Given the description of an element on the screen output the (x, y) to click on. 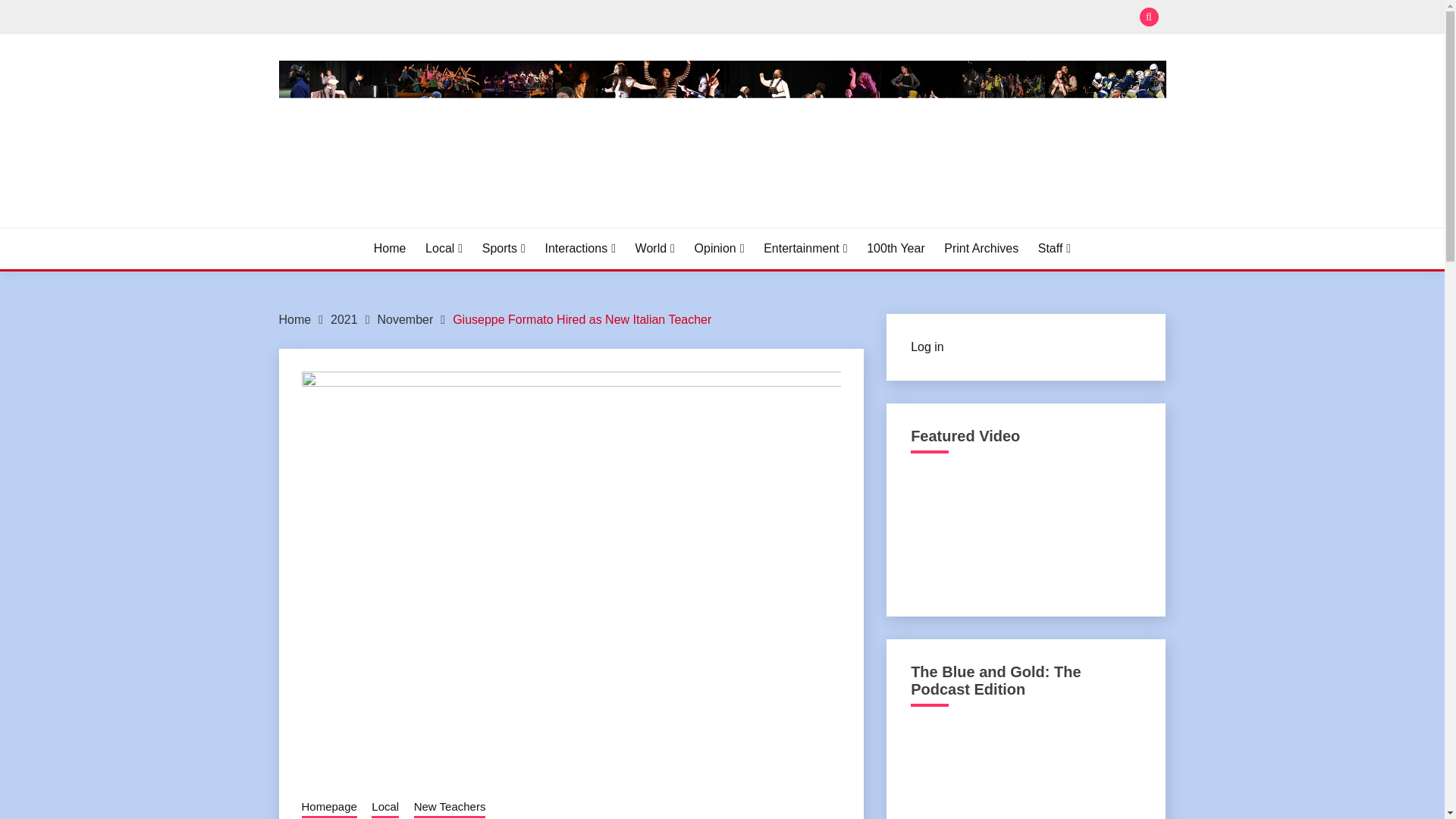
Interactions (579, 248)
Opinion (719, 248)
Print Archives (980, 248)
Search (832, 18)
Home (390, 248)
Giuseppe Formato Hired as New Italian Teacher (581, 318)
Home (295, 318)
THE BLUE AND GOLD (426, 224)
Entertainment (804, 248)
Sports (503, 248)
